Given the description of an element on the screen output the (x, y) to click on. 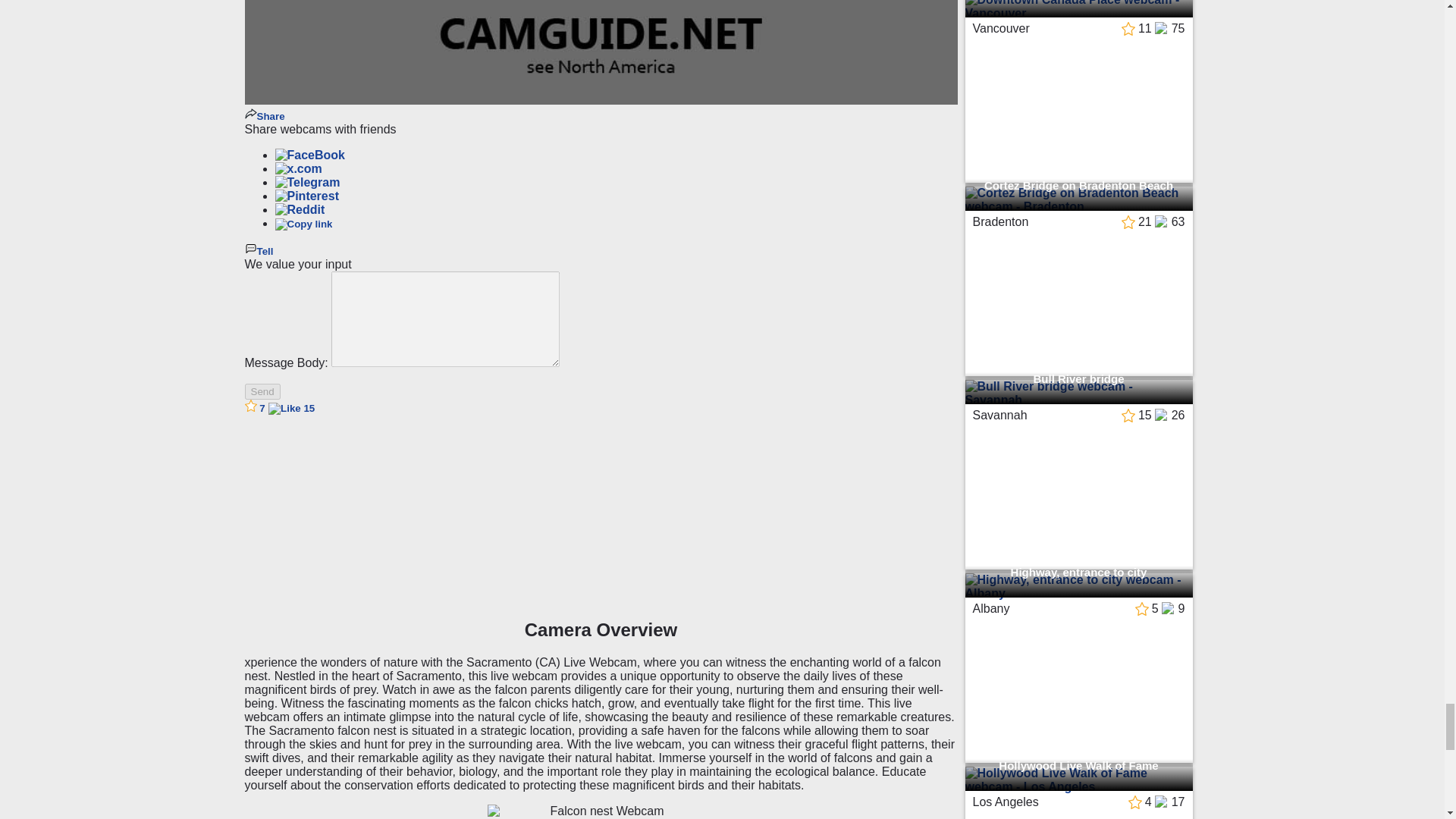
Send (261, 391)
Share on Reddit (299, 209)
Share on Telegram (307, 182)
Share on Pinterest (306, 195)
Share on X (298, 168)
Share on FaceBook (309, 154)
